Given the description of an element on the screen output the (x, y) to click on. 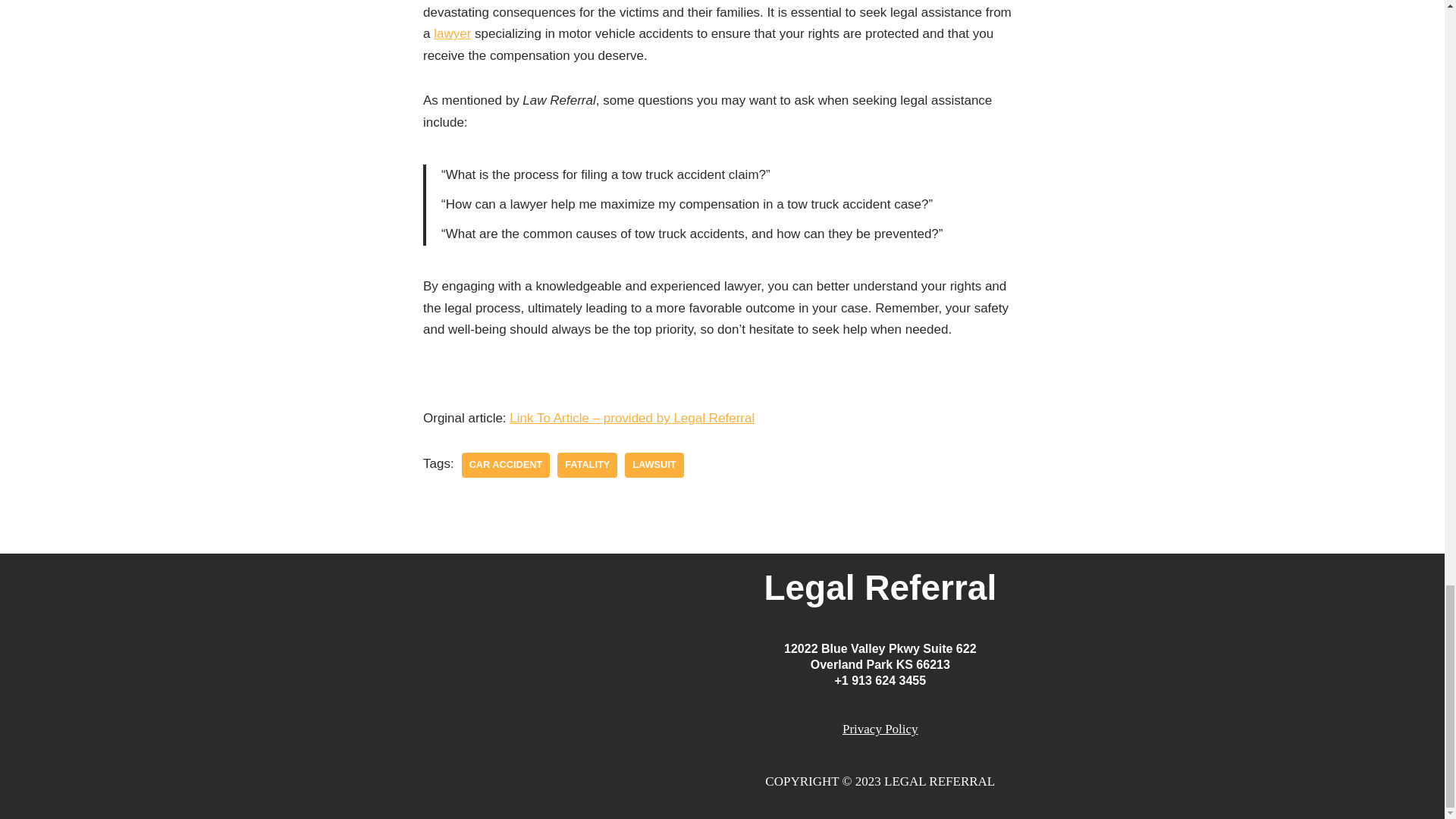
Fatality (587, 464)
car accident (505, 464)
lawsuit (653, 464)
CAR ACCIDENT (505, 464)
lawyer (451, 33)
FATALITY (587, 464)
LAWSUIT (653, 464)
Privacy Policy (880, 728)
